Given the description of an element on the screen output the (x, y) to click on. 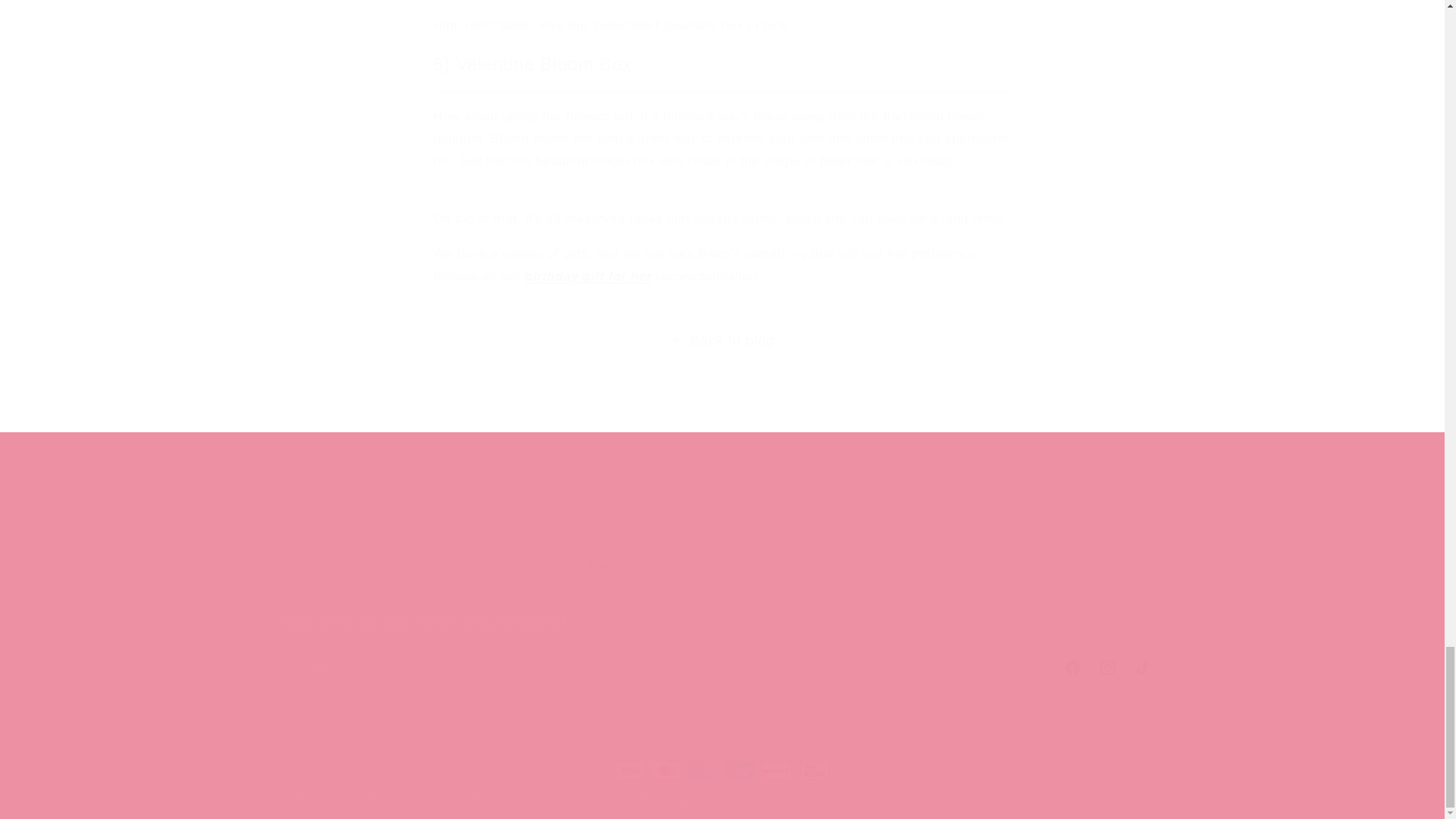
Birthday Gift Ideas for Her (408, 548)
